Given the description of an element on the screen output the (x, y) to click on. 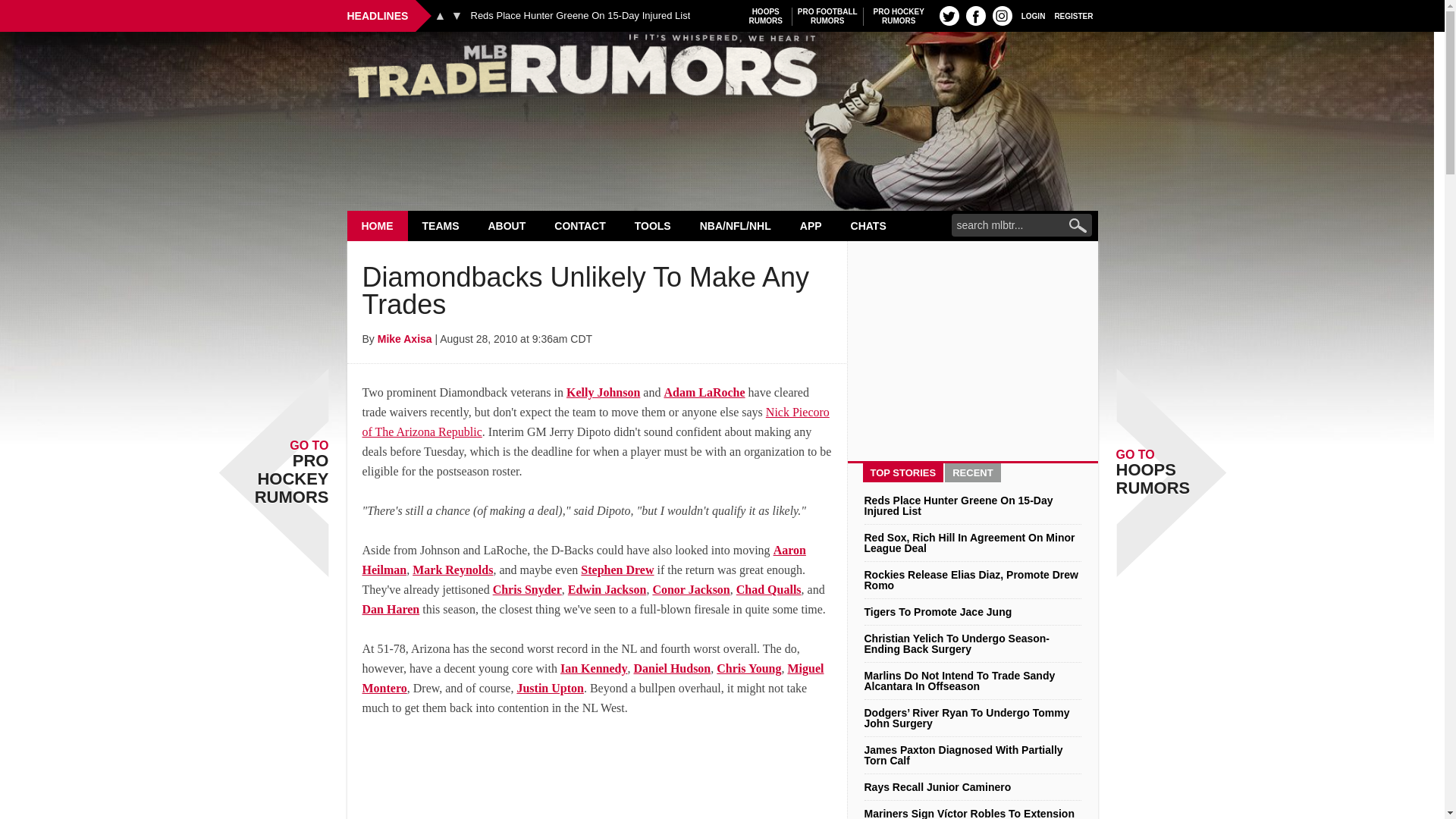
FB profile (975, 15)
TEAMS (440, 225)
Reds Place Hunter Greene On 15-Day Injured List (580, 15)
Next (456, 15)
LOGIN (1032, 15)
MLB Trade Rumors (722, 69)
REGISTER (827, 16)
HOME (1073, 15)
Previous (377, 225)
